Given the description of an element on the screen output the (x, y) to click on. 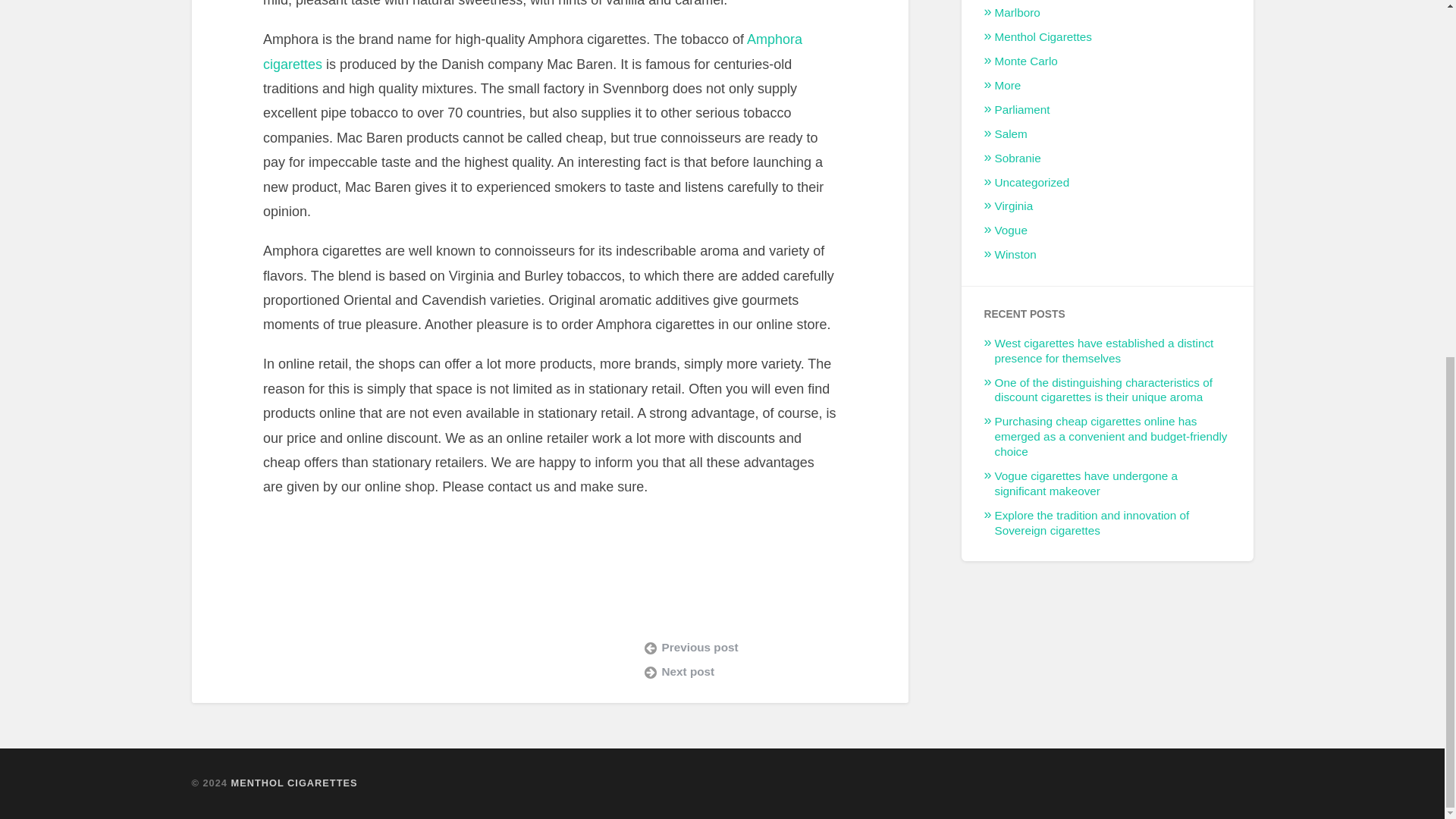
Monte Carlo (1026, 60)
Sobranie (1017, 157)
Salem (1010, 133)
Amphora cigarettes (532, 51)
Next post (765, 671)
More (1008, 84)
Parliament (1021, 109)
Menthol Cigarettes (1043, 36)
Amphora cigarettes (532, 51)
Previous post (765, 647)
